Given the description of an element on the screen output the (x, y) to click on. 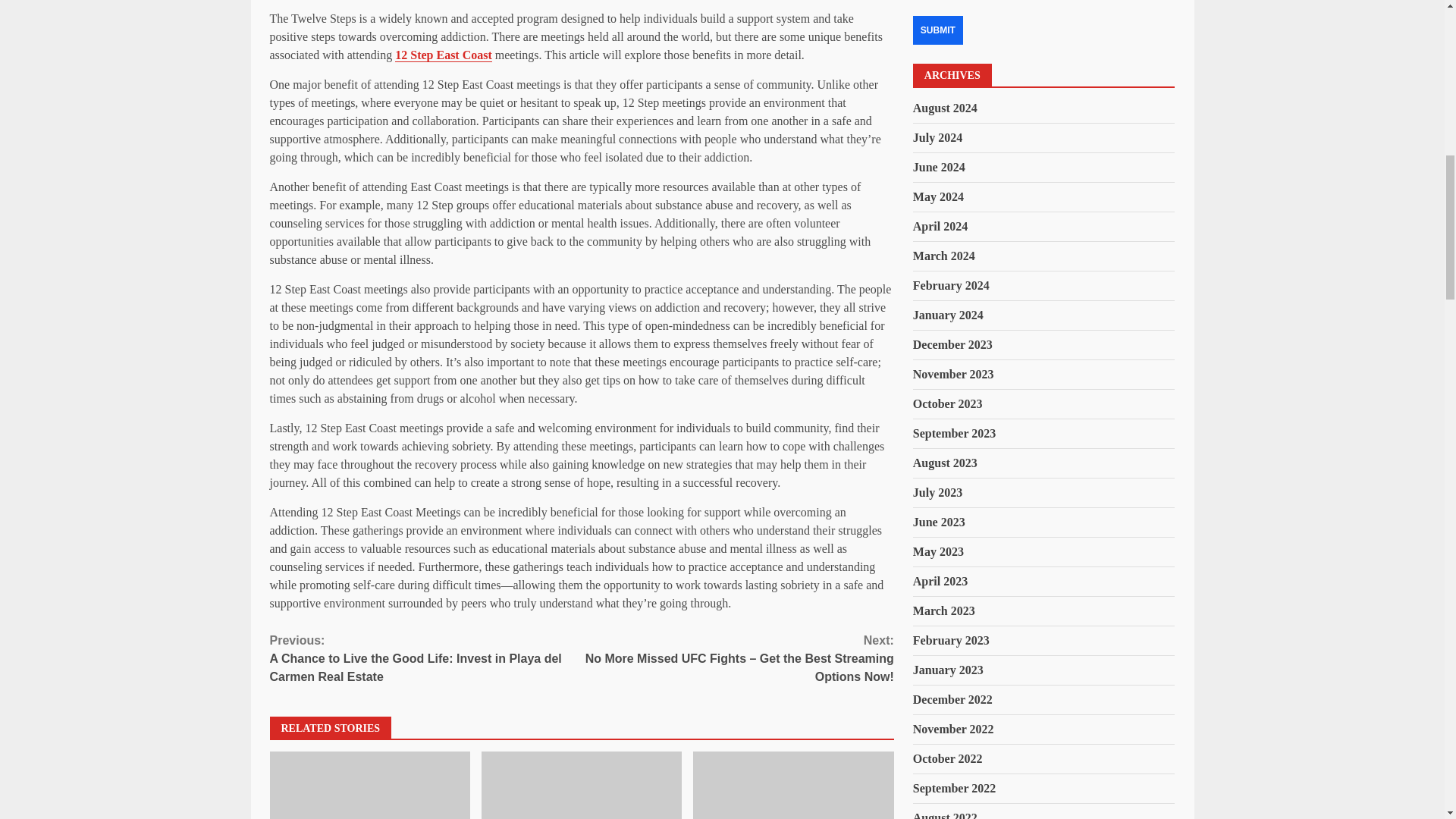
June 2024 (938, 166)
Submit (937, 30)
Submit (937, 30)
April 2024 (940, 226)
July 2024 (937, 137)
12 Step East Coast (443, 55)
May 2024 (937, 196)
August 2024 (944, 107)
